Given the description of an element on the screen output the (x, y) to click on. 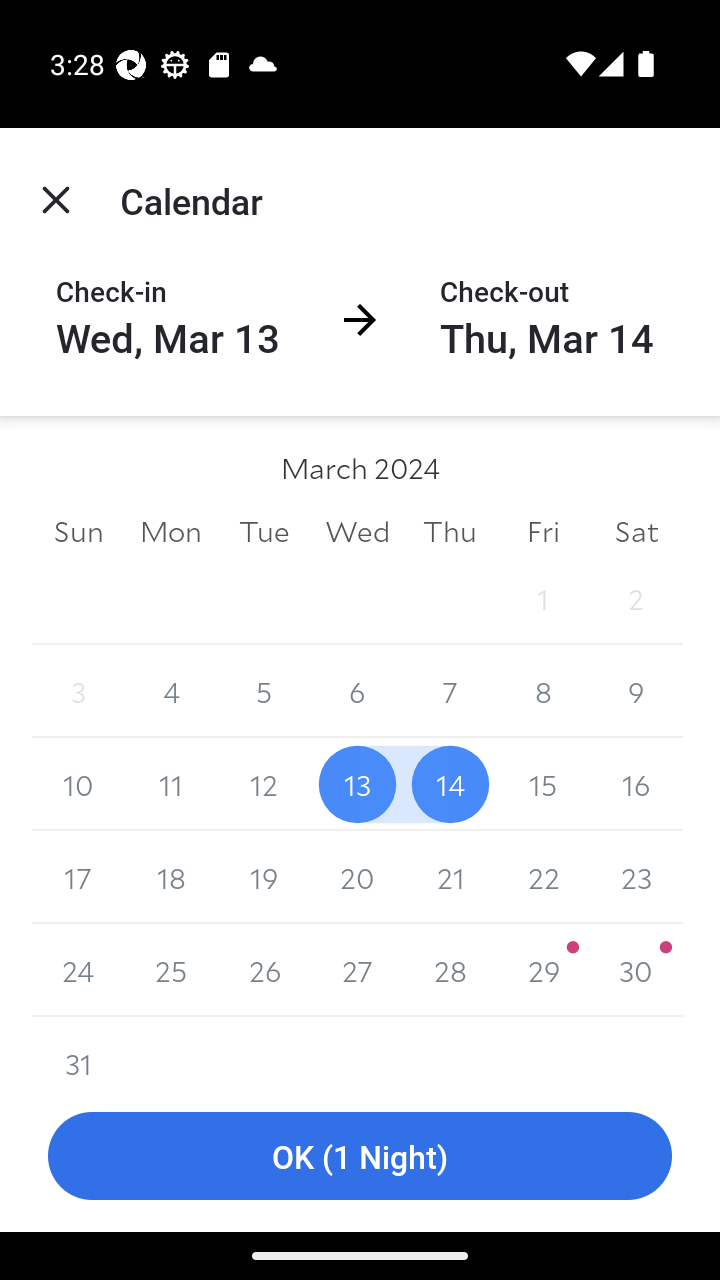
Sun (78, 530)
Mon (171, 530)
Tue (264, 530)
Wed (357, 530)
Thu (449, 530)
Fri (542, 530)
Sat (636, 530)
1 1 March 2024 (542, 598)
2 2 March 2024 (636, 598)
3 3 March 2024 (78, 691)
4 4 March 2024 (171, 691)
5 5 March 2024 (264, 691)
6 6 March 2024 (357, 691)
7 7 March 2024 (449, 691)
8 8 March 2024 (542, 691)
9 9 March 2024 (636, 691)
10 10 March 2024 (78, 784)
11 11 March 2024 (171, 784)
12 12 March 2024 (264, 784)
13 13 March 2024 (357, 784)
14 14 March 2024 (449, 784)
15 15 March 2024 (542, 784)
16 16 March 2024 (636, 784)
17 17 March 2024 (78, 877)
18 18 March 2024 (171, 877)
19 19 March 2024 (264, 877)
20 20 March 2024 (357, 877)
21 21 March 2024 (449, 877)
22 22 March 2024 (542, 877)
23 23 March 2024 (636, 877)
24 24 March 2024 (78, 970)
25 25 March 2024 (171, 970)
26 26 March 2024 (264, 970)
27 27 March 2024 (357, 970)
28 28 March 2024 (449, 970)
29 29 March 2024 (542, 970)
30 30 March 2024 (636, 970)
31 31 March 2024 (78, 1048)
OK (1 Night) (359, 1156)
